Given the description of an element on the screen output the (x, y) to click on. 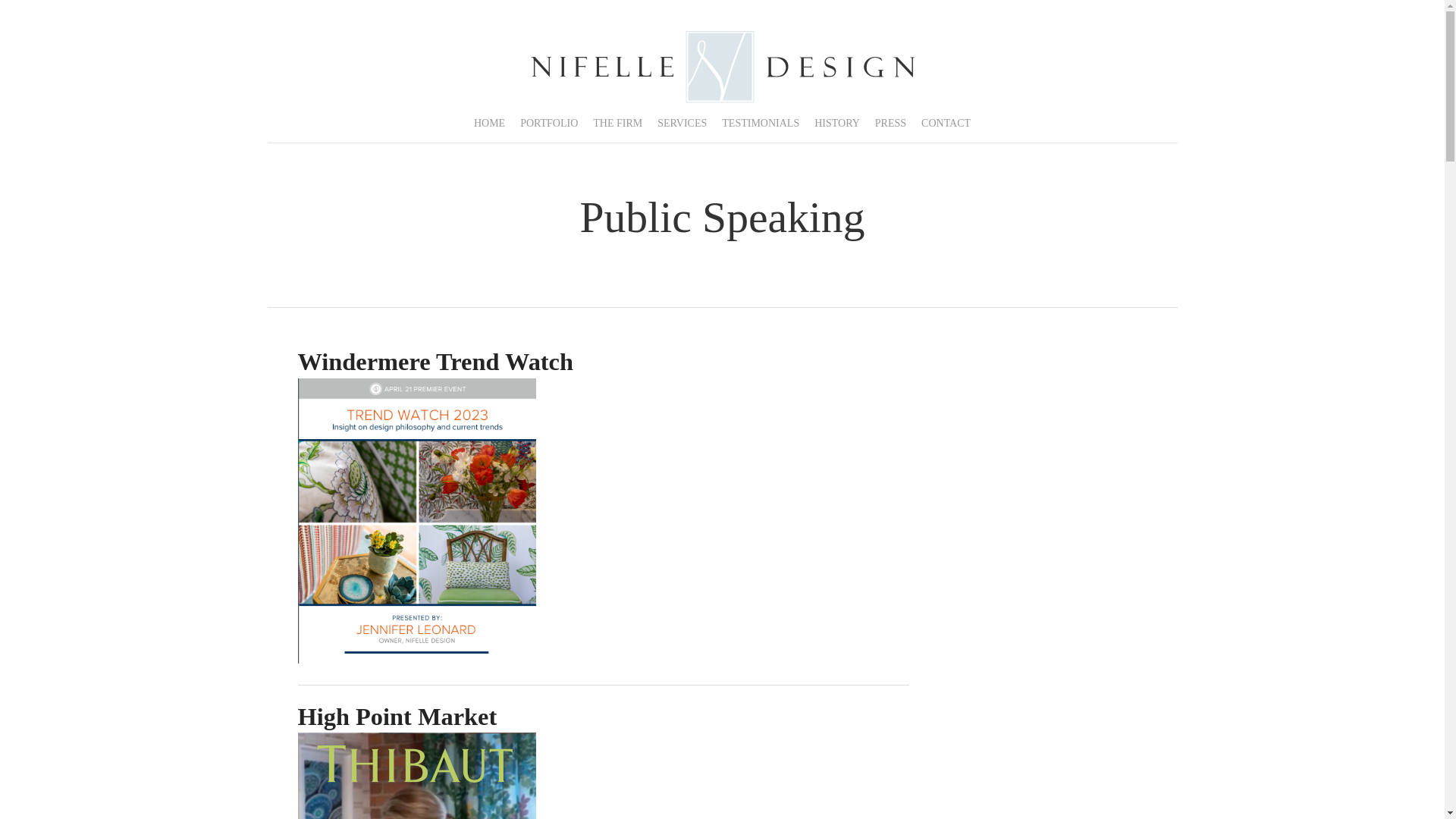
TESTIMONIALS (760, 123)
Windermere Trend Watch (435, 361)
High Point Market (416, 775)
HOME (488, 123)
High Point Market (396, 715)
CONTACT (946, 123)
Windermere Trend Watch (416, 519)
SERVICES (681, 123)
HISTORY (836, 123)
PRESS (890, 123)
THE FIRM (617, 123)
PORTFOLIO (548, 123)
